Given the description of an element on the screen output the (x, y) to click on. 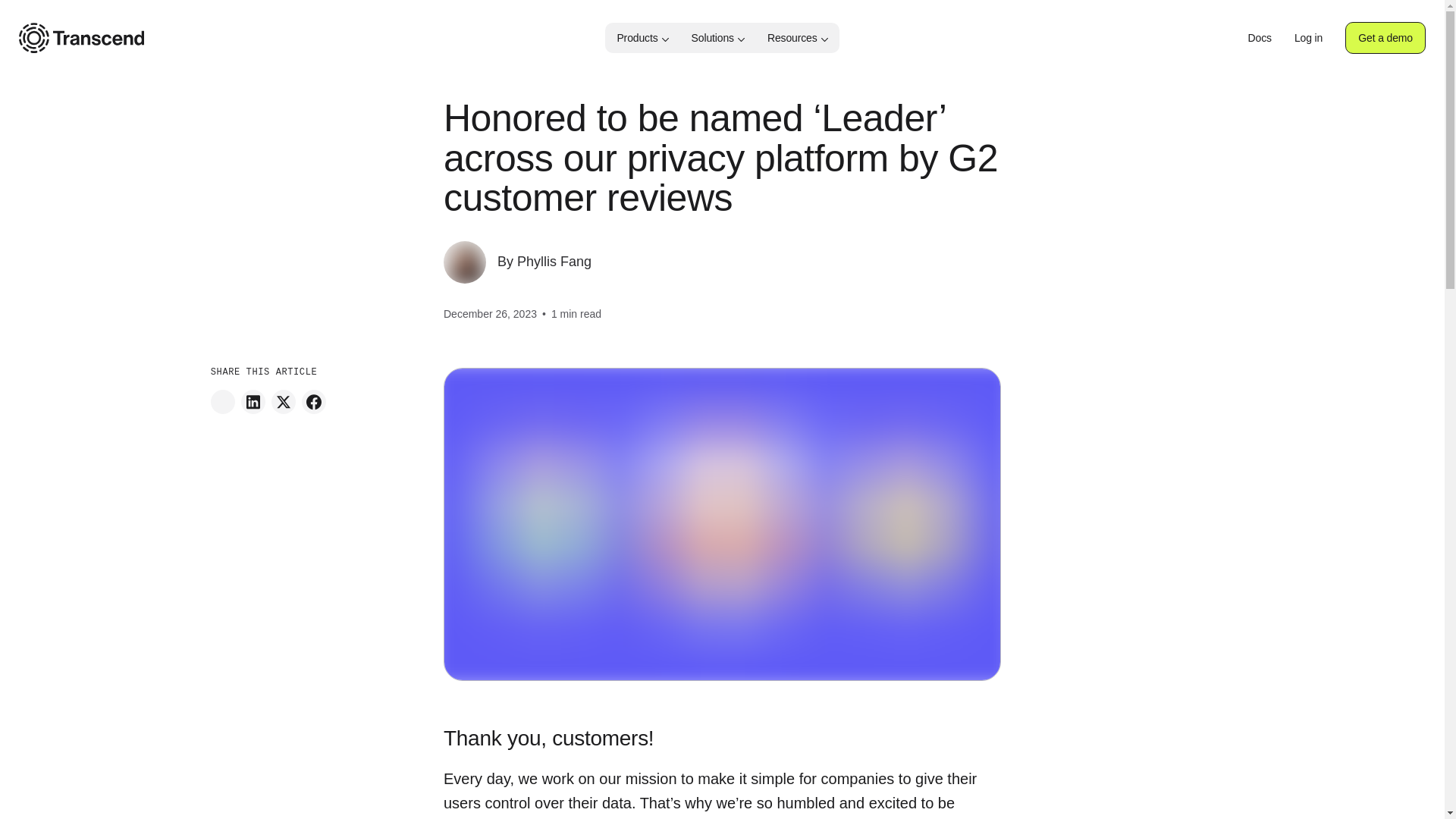
Docs (1259, 37)
Phyllis Fang (553, 261)
Log in (1308, 37)
Solutions (717, 37)
Get a demo (1385, 38)
Resources (797, 37)
Products (642, 37)
